Given the description of an element on the screen output the (x, y) to click on. 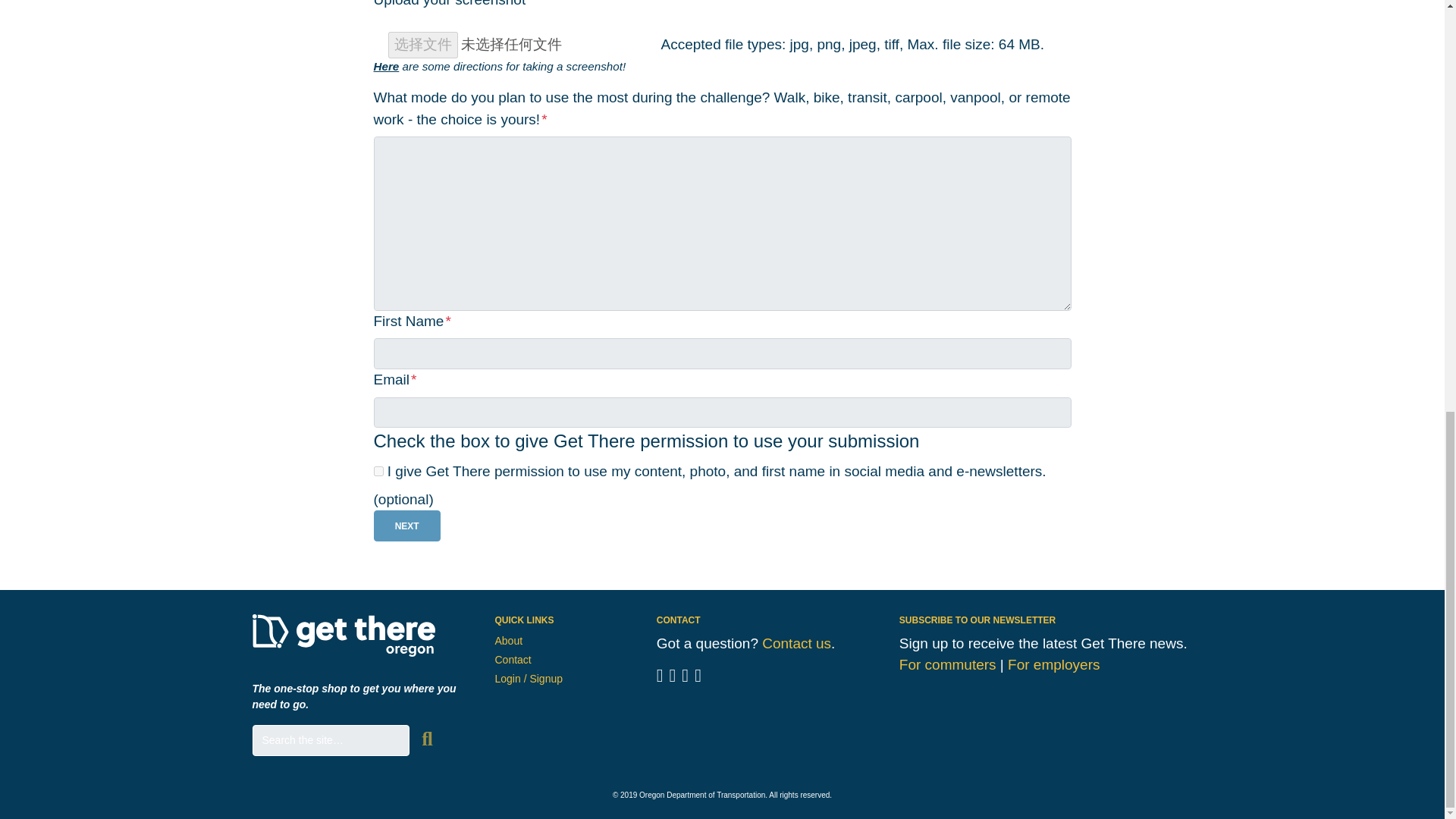
Next (405, 525)
